Given the description of an element on the screen output the (x, y) to click on. 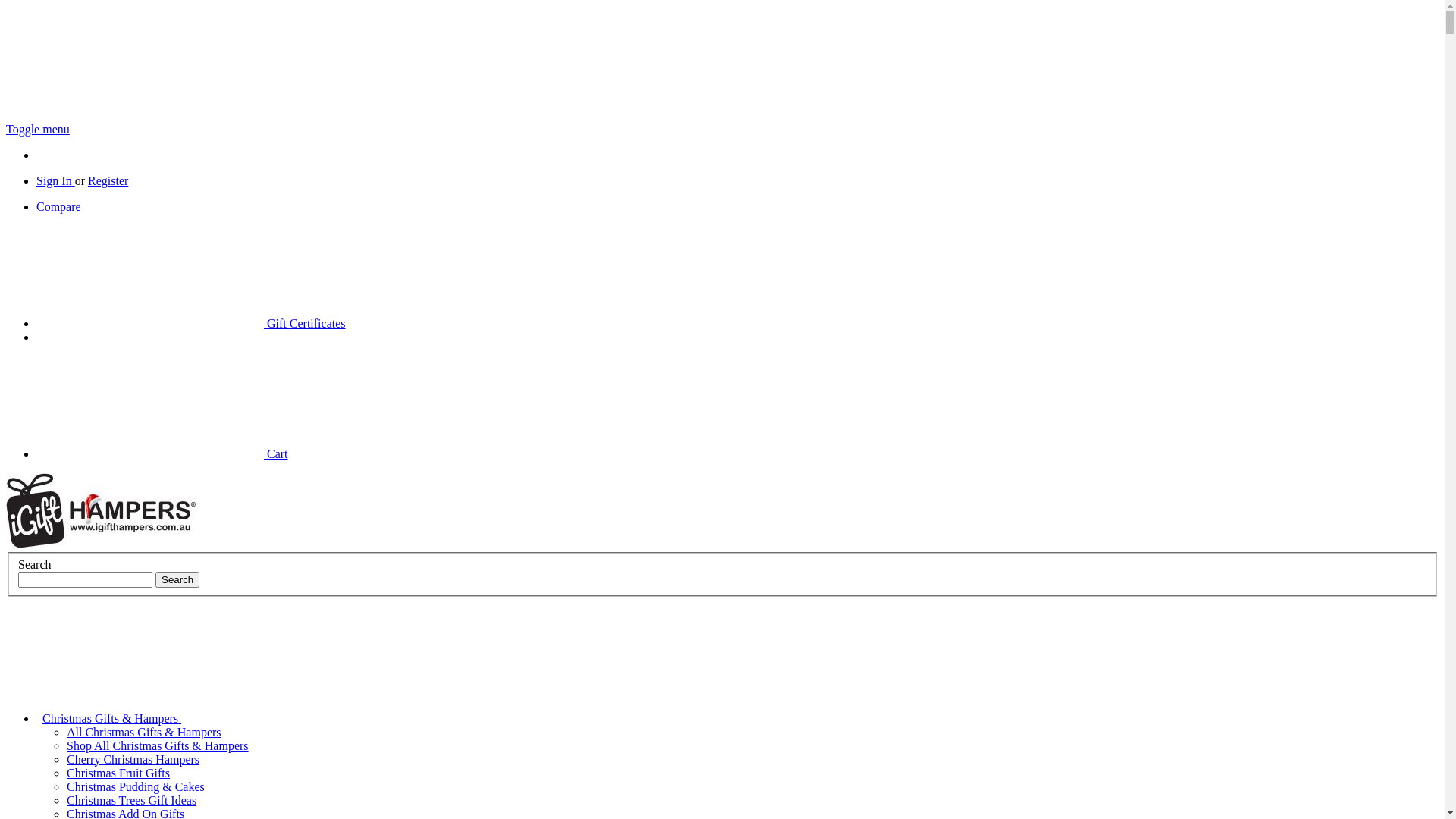
Cart Element type: text (162, 453)
Cherry Christmas Hampers Element type: text (132, 759)
Christmas Trees Gift Ideas Element type: text (131, 799)
Toggle menu Element type: text (37, 128)
Shop All Christmas Gifts & Hampers Element type: text (157, 745)
Christmas Fruit Gifts Element type: text (117, 772)
Register Element type: text (107, 180)
Gift Certificates Element type: text (190, 322)
Compare Element type: text (58, 206)
Sign In Element type: text (55, 180)
Search Element type: text (177, 579)
igiftFRUITHAMPERS Element type: hover (100, 511)
Christmas Pudding & Cakes Element type: text (135, 786)
All Christmas Gifts & Hampers Element type: text (143, 731)
Christmas Gifts & Hampers Element type: text (225, 718)
